Given the description of an element on the screen output the (x, y) to click on. 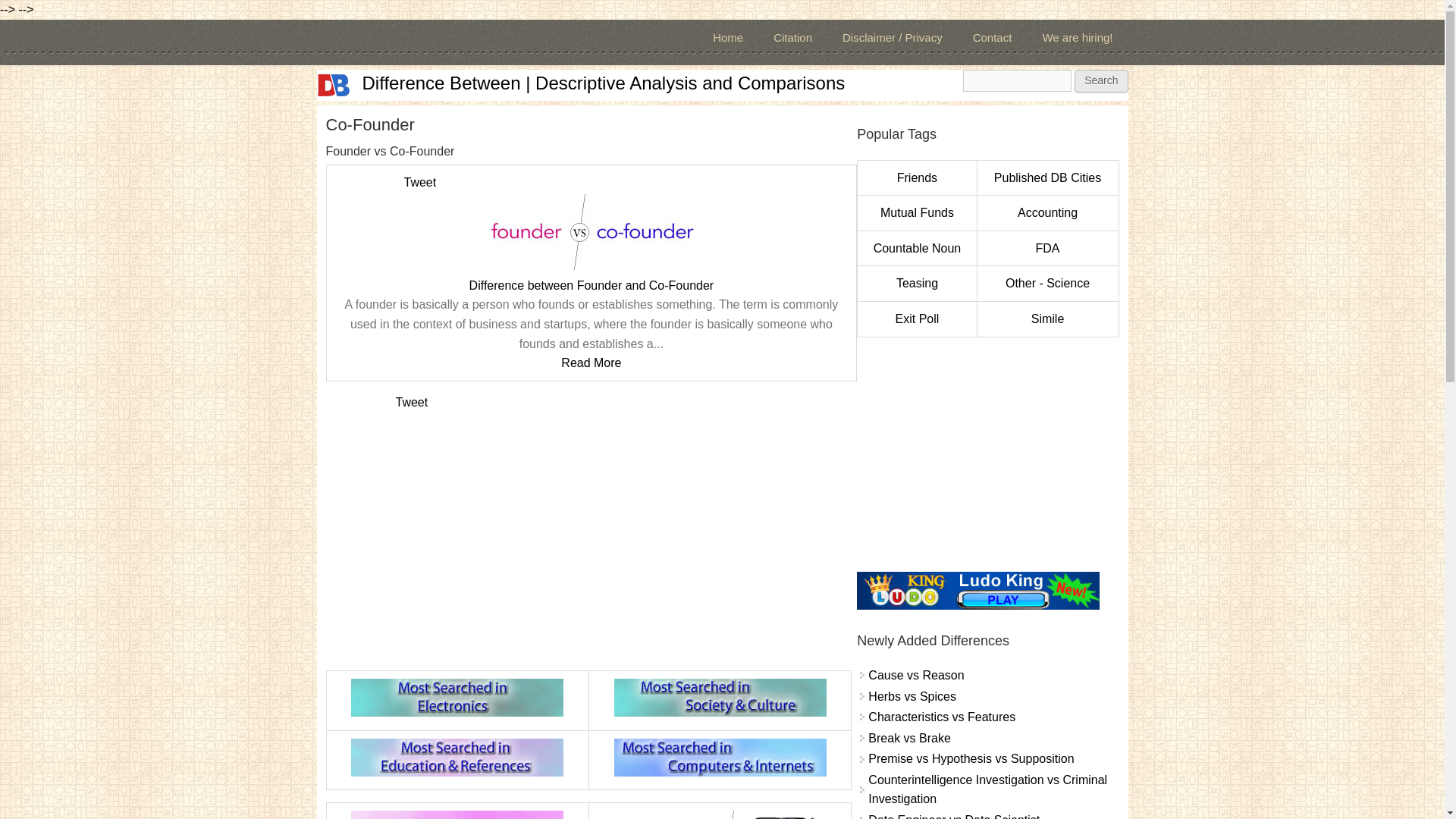
Most Searched in Computers and Internets (720, 757)
Countable Noun (916, 247)
Read More (590, 362)
Characteristics vs Features (940, 716)
Premise vs Hypothesis vs Supposition (970, 758)
Simile (1047, 318)
Accounting (1047, 212)
Tweet (419, 182)
Exit Poll (917, 318)
Mutual Funds (916, 212)
Citation (792, 37)
Search (1100, 80)
Most Searched in Society and Culture (720, 697)
Friends (916, 177)
Home (727, 37)
